Given the description of an element on the screen output the (x, y) to click on. 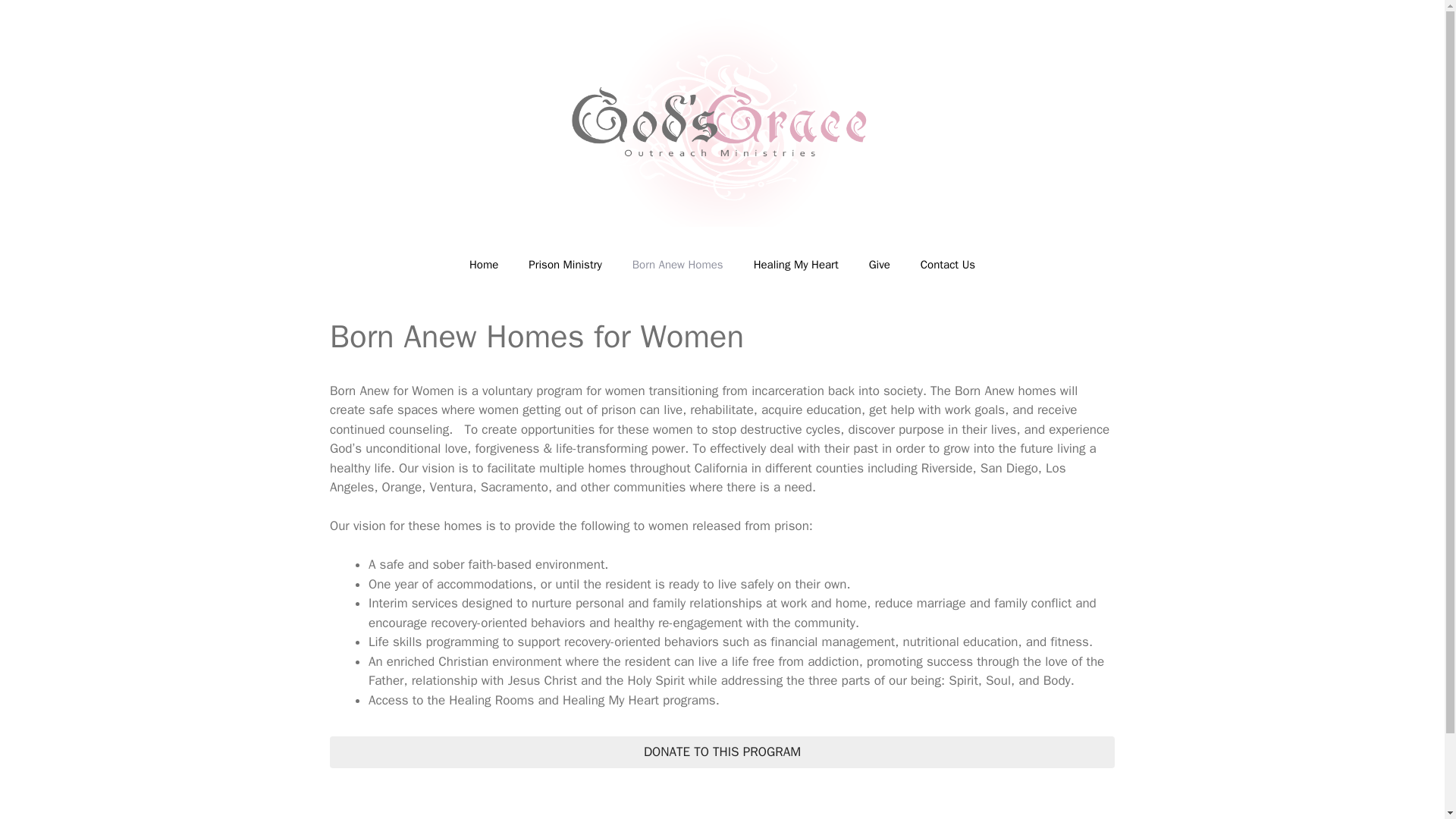
Prison Ministry (564, 264)
Home (483, 264)
Born Anew Homes (677, 264)
Give (879, 264)
Contact Us (947, 264)
DONATE TO THIS PROGRAM (722, 752)
Healing My Heart (795, 264)
